Given the description of an element on the screen output the (x, y) to click on. 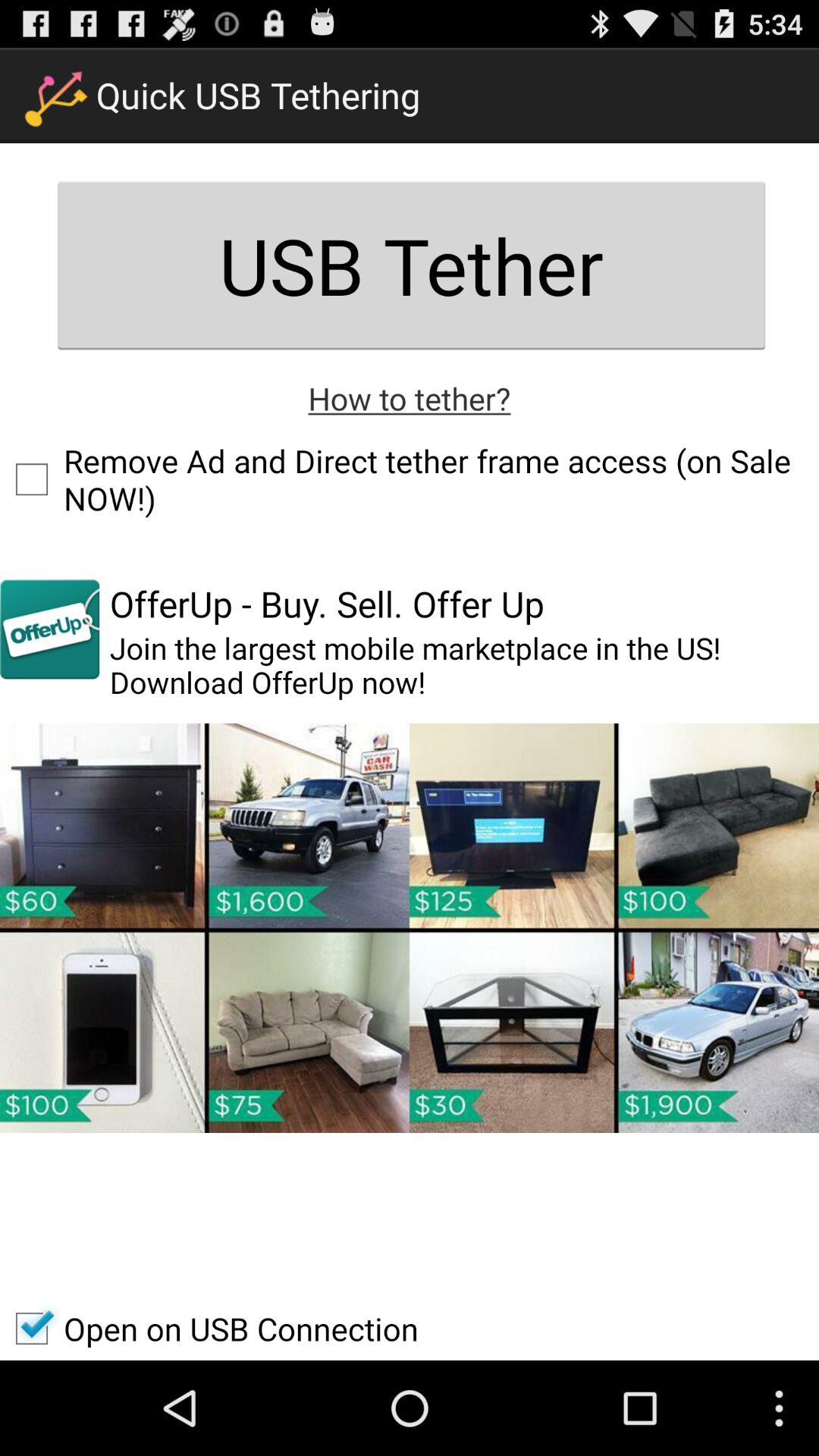
click item at the bottom left corner (209, 1328)
